Given the description of an element on the screen output the (x, y) to click on. 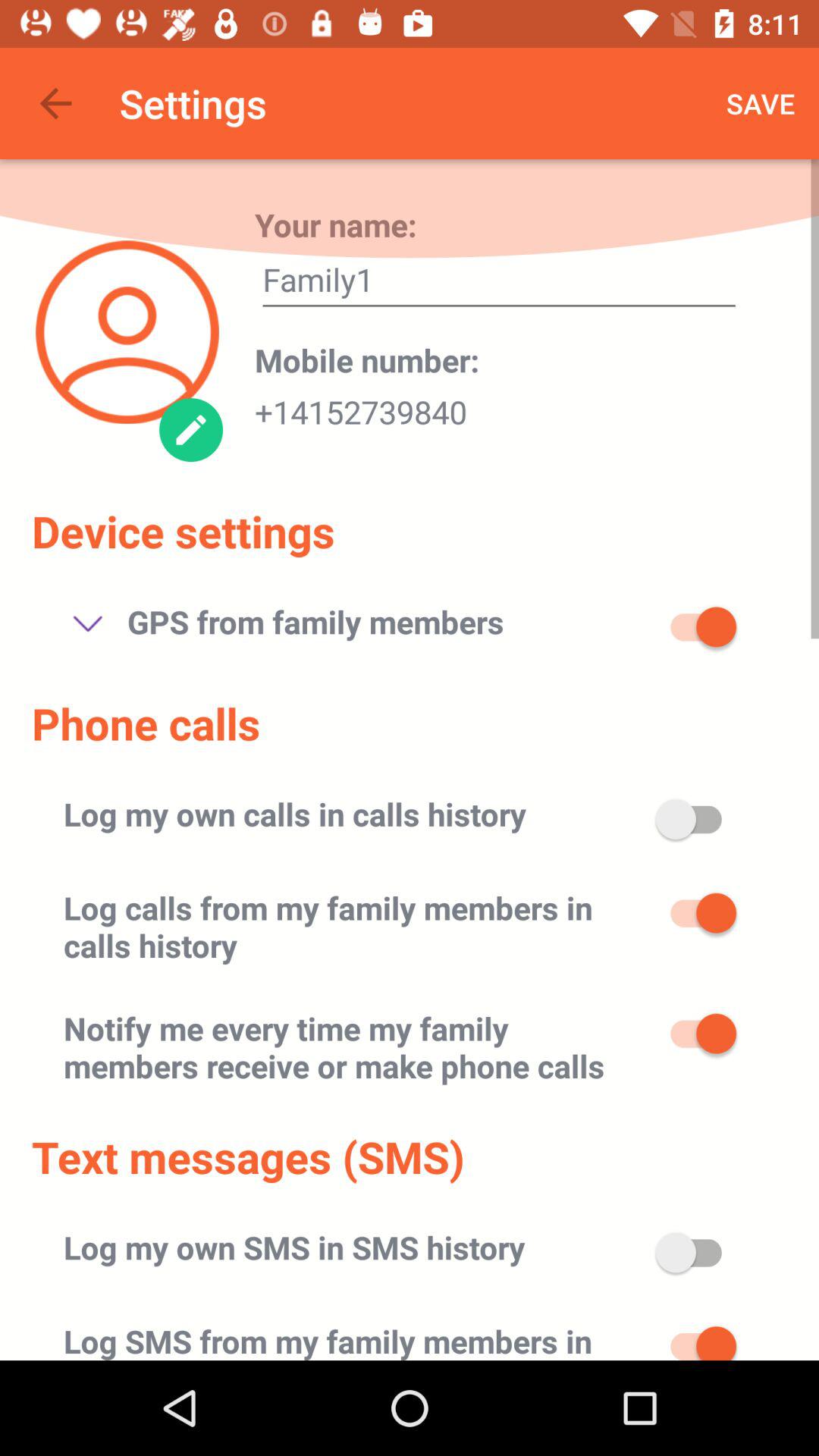
turn on family1 icon (498, 284)
